Given the description of an element on the screen output the (x, y) to click on. 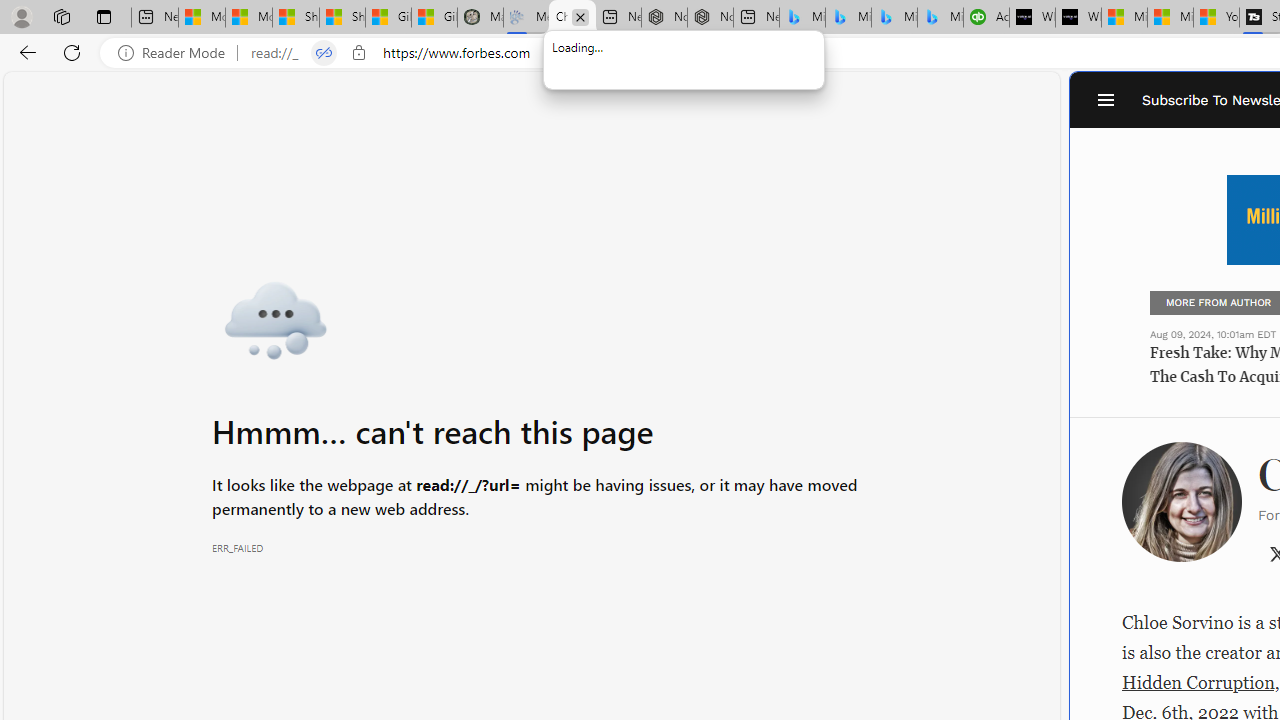
Nordace - #1 Japanese Best-Seller - Siena Smart Backpack (710, 17)
Manatee Mortality Statistics | FWC (480, 17)
Tabs in split screen (323, 53)
Reader Mode (177, 53)
Open Navigation Menu (1105, 99)
